Given the description of an element on the screen output the (x, y) to click on. 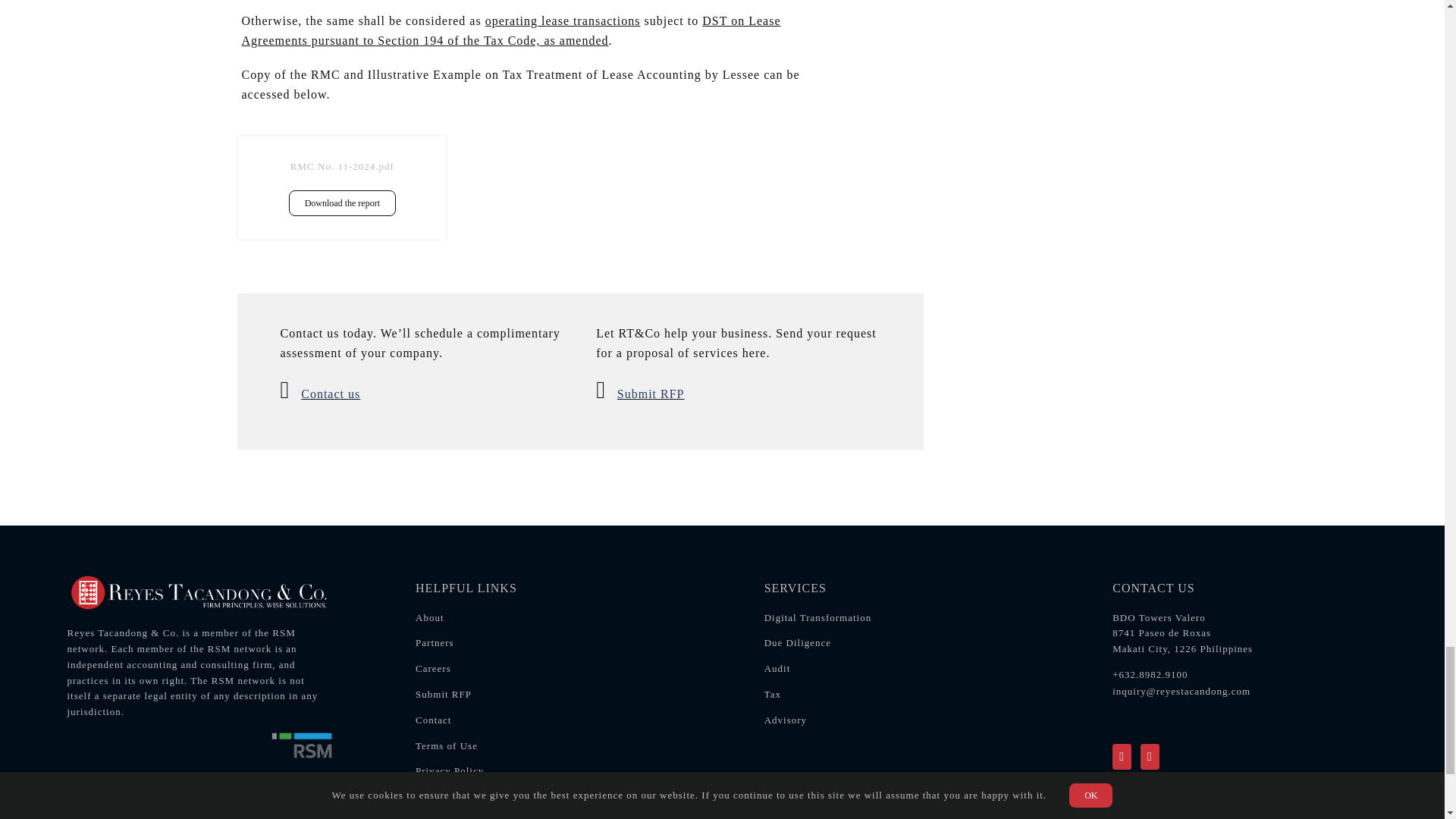
Contact us (330, 393)
Download the report (342, 203)
Submit RFP (650, 393)
